Given the description of an element on the screen output the (x, y) to click on. 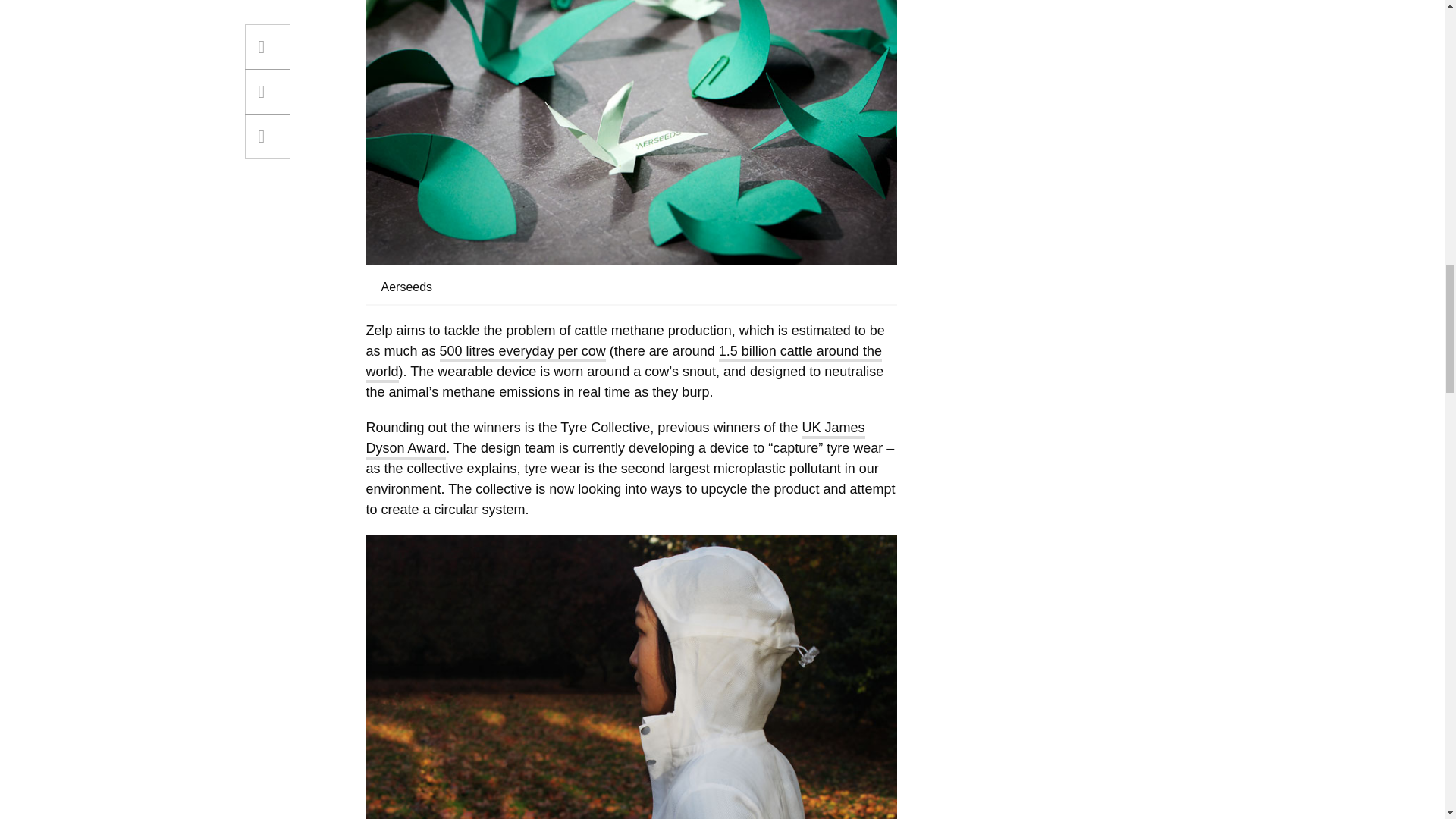
500 litres everyday per cow (522, 352)
1.5 billion cattle around the world (622, 363)
UK James Dyson Award (614, 439)
